Given the description of an element on the screen output the (x, y) to click on. 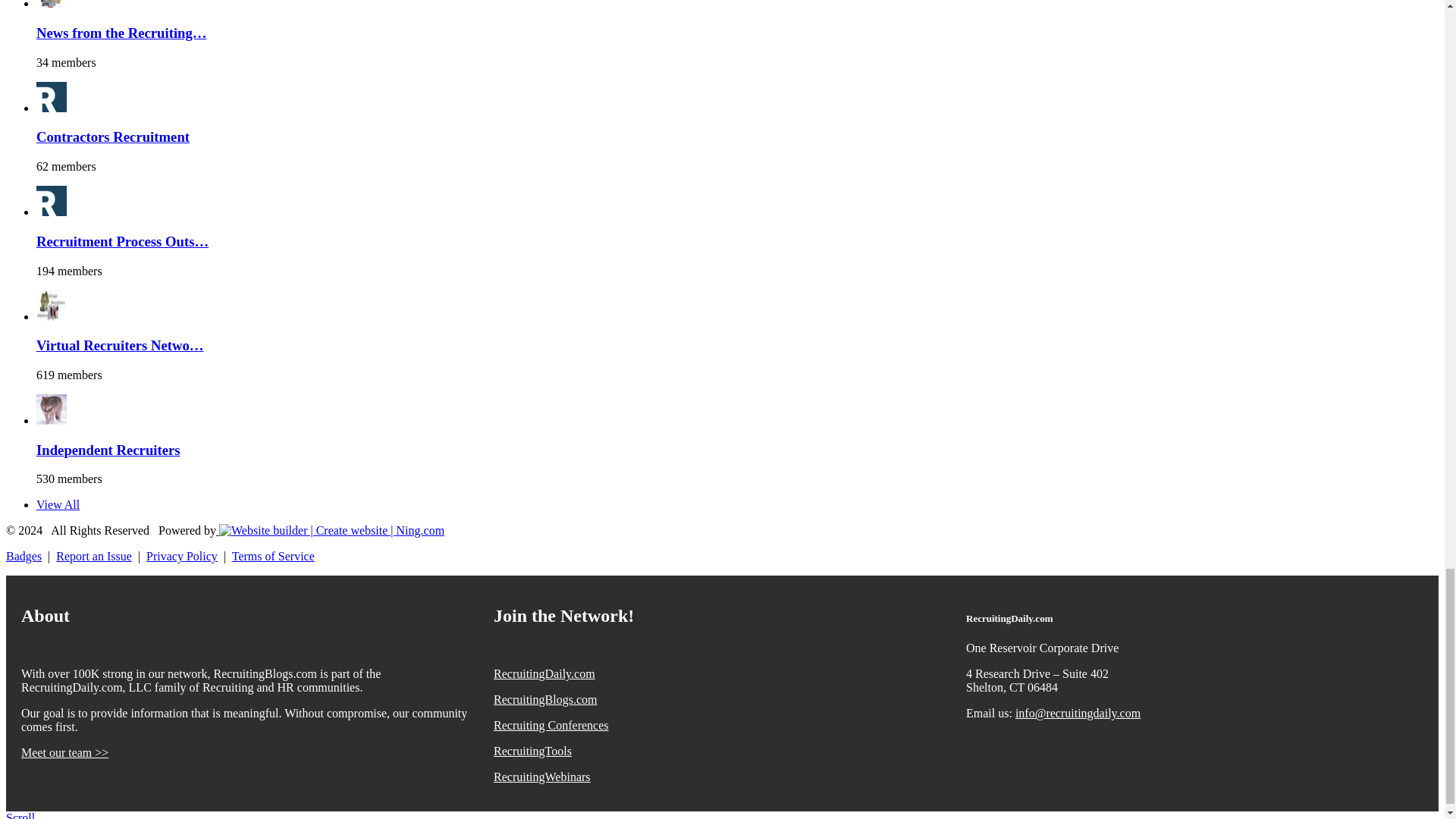
Ning Website Builder (331, 530)
